Given the description of an element on the screen output the (x, y) to click on. 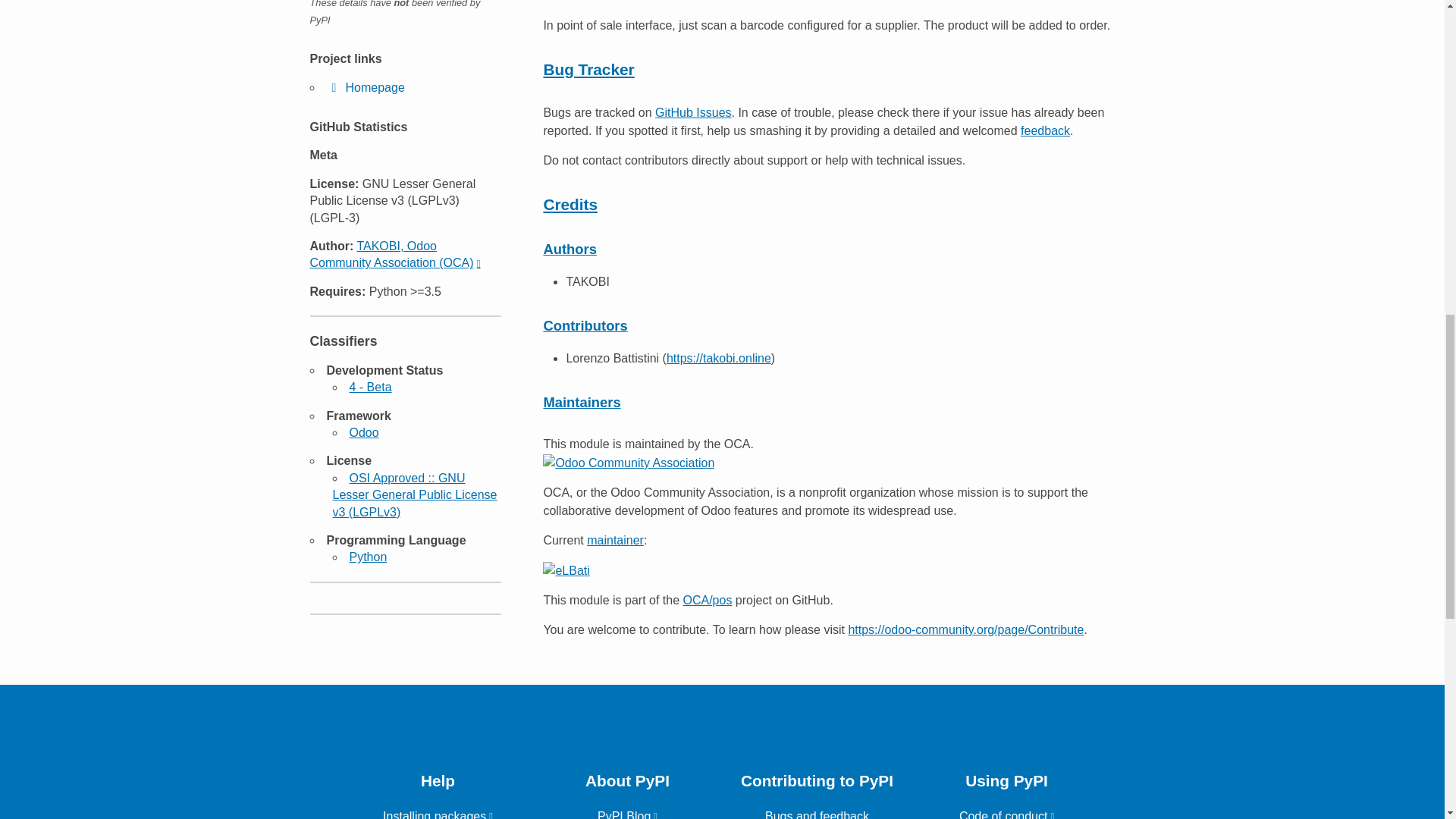
Odoo (363, 431)
4 - Beta (370, 386)
Python (368, 556)
Homepage (365, 87)
External link (437, 814)
